Given the description of an element on the screen output the (x, y) to click on. 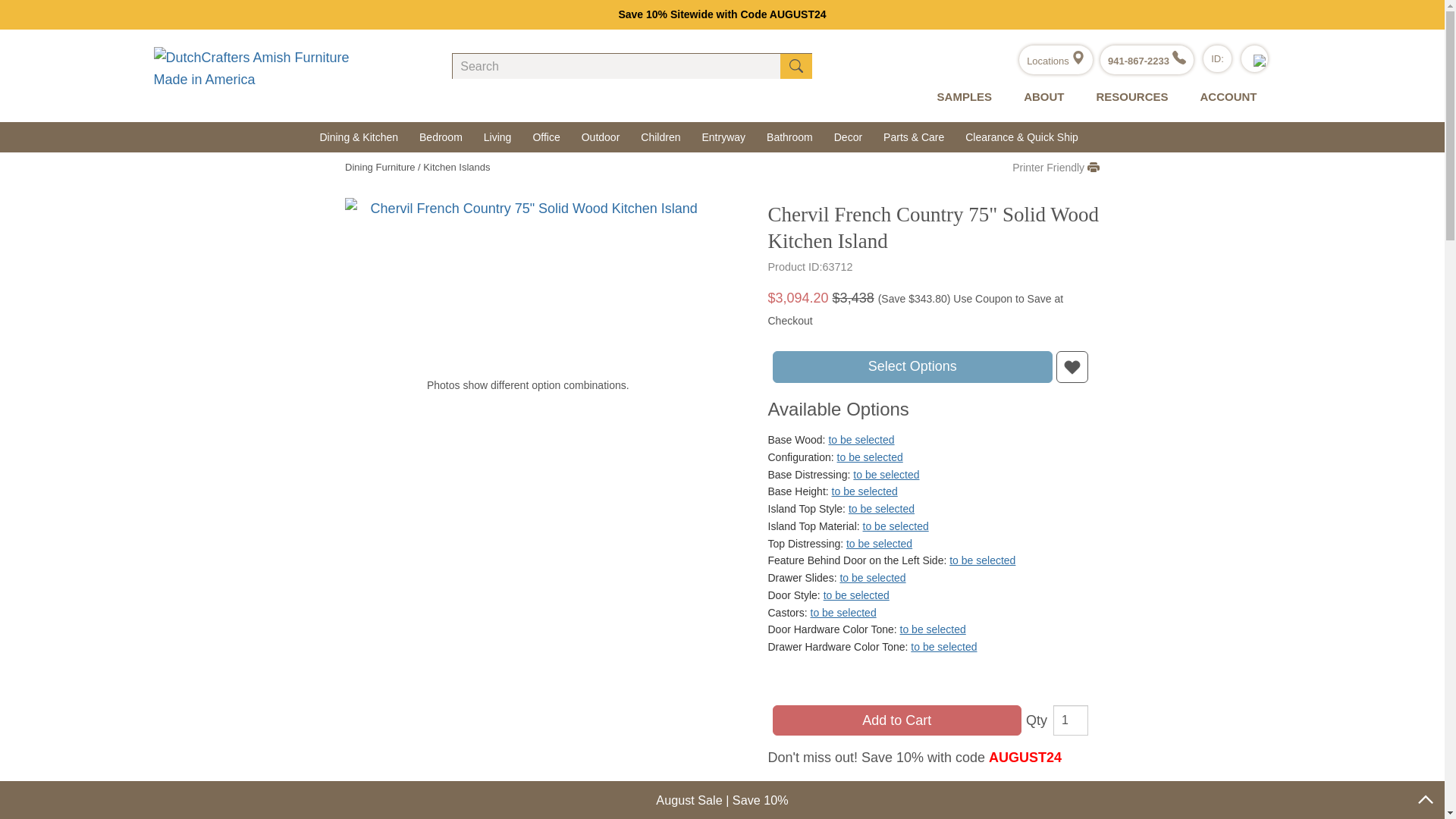
SAMPLES (961, 96)
Locations (1055, 60)
ACCOUNT (1224, 96)
RESOURCES (1128, 96)
ABOUT (1039, 96)
941-867-2233 (1147, 60)
1 (1069, 720)
